Given the description of an element on the screen output the (x, y) to click on. 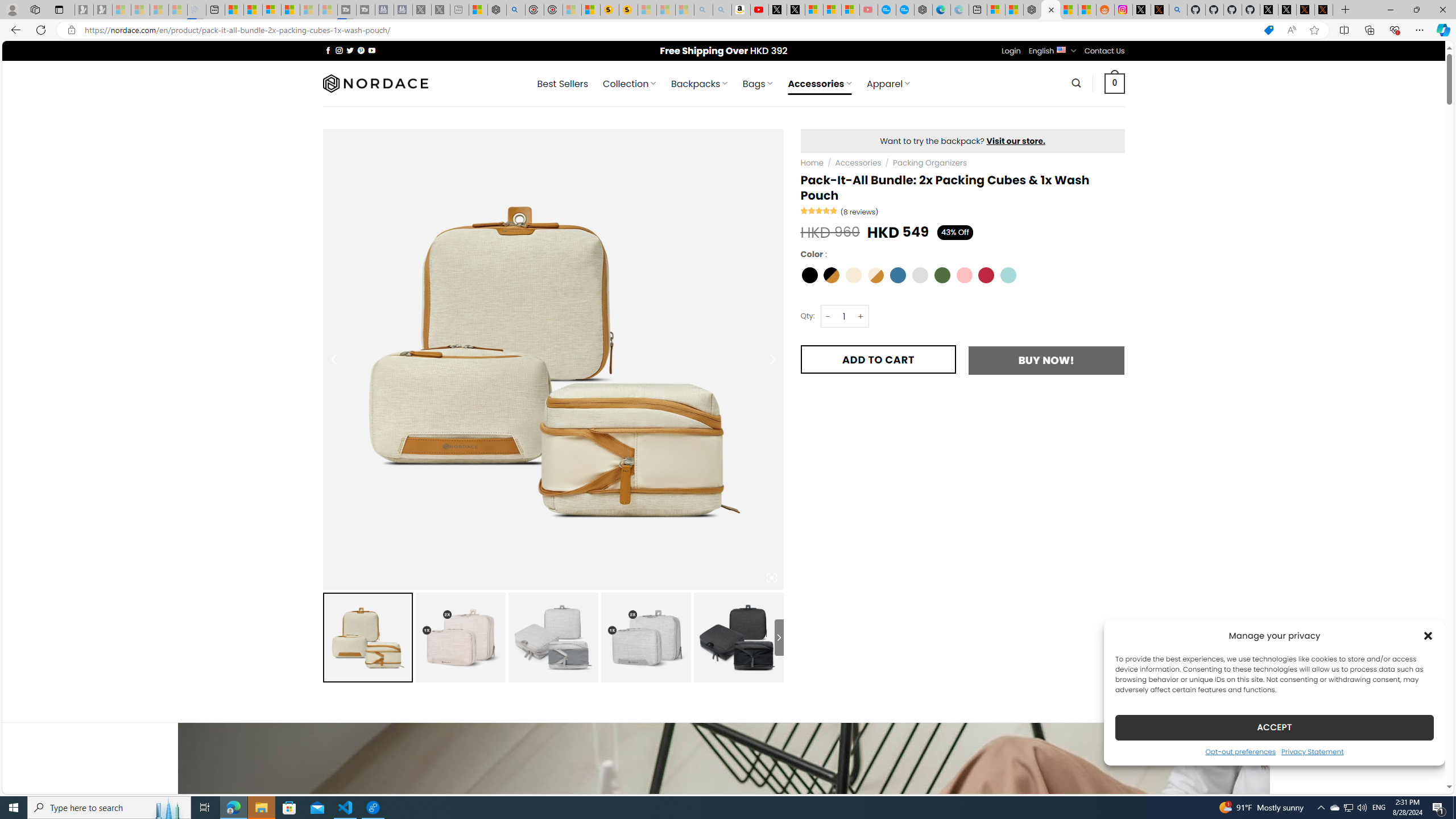
Day 1: Arriving in Yemen (surreal to be here) - YouTube (759, 9)
Search (1076, 83)
